Given the description of an element on the screen output the (x, y) to click on. 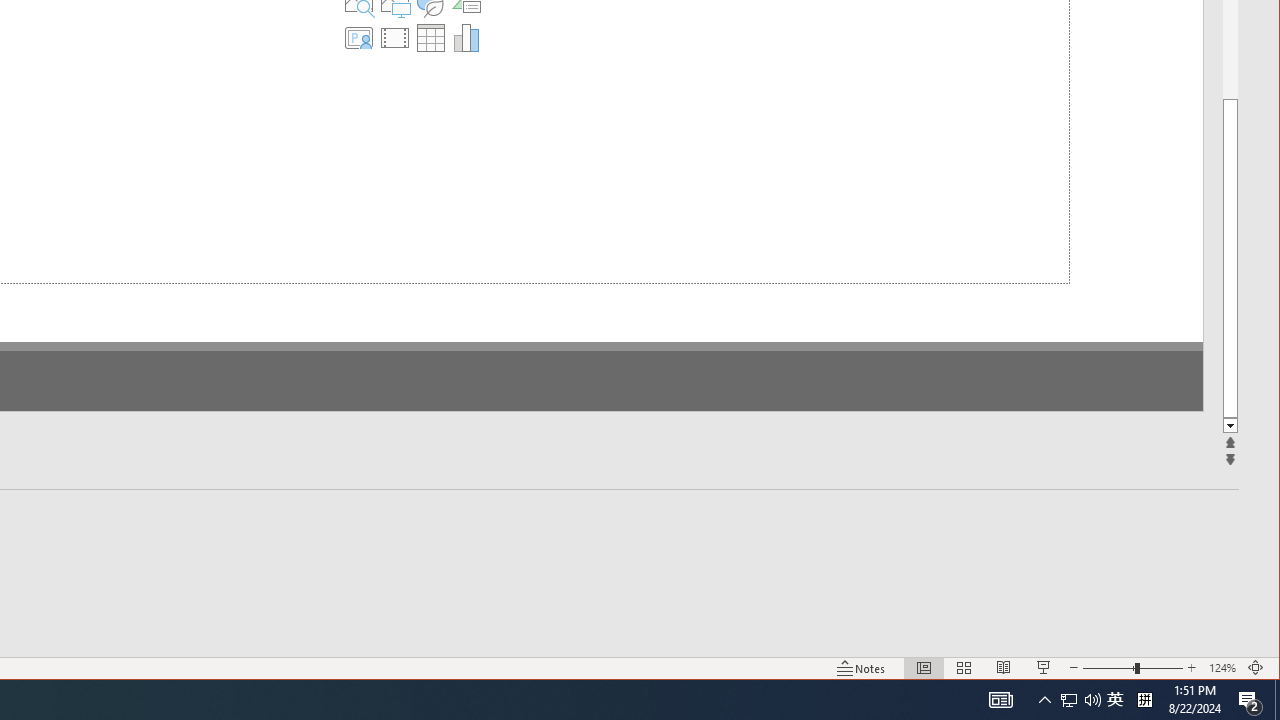
Insert Chart (394, 75)
Zoom 124% (1222, 668)
Insert an Icon (359, 39)
Insert a SmartArt Graphic (394, 39)
Insert Video (323, 75)
